Given the description of an element on the screen output the (x, y) to click on. 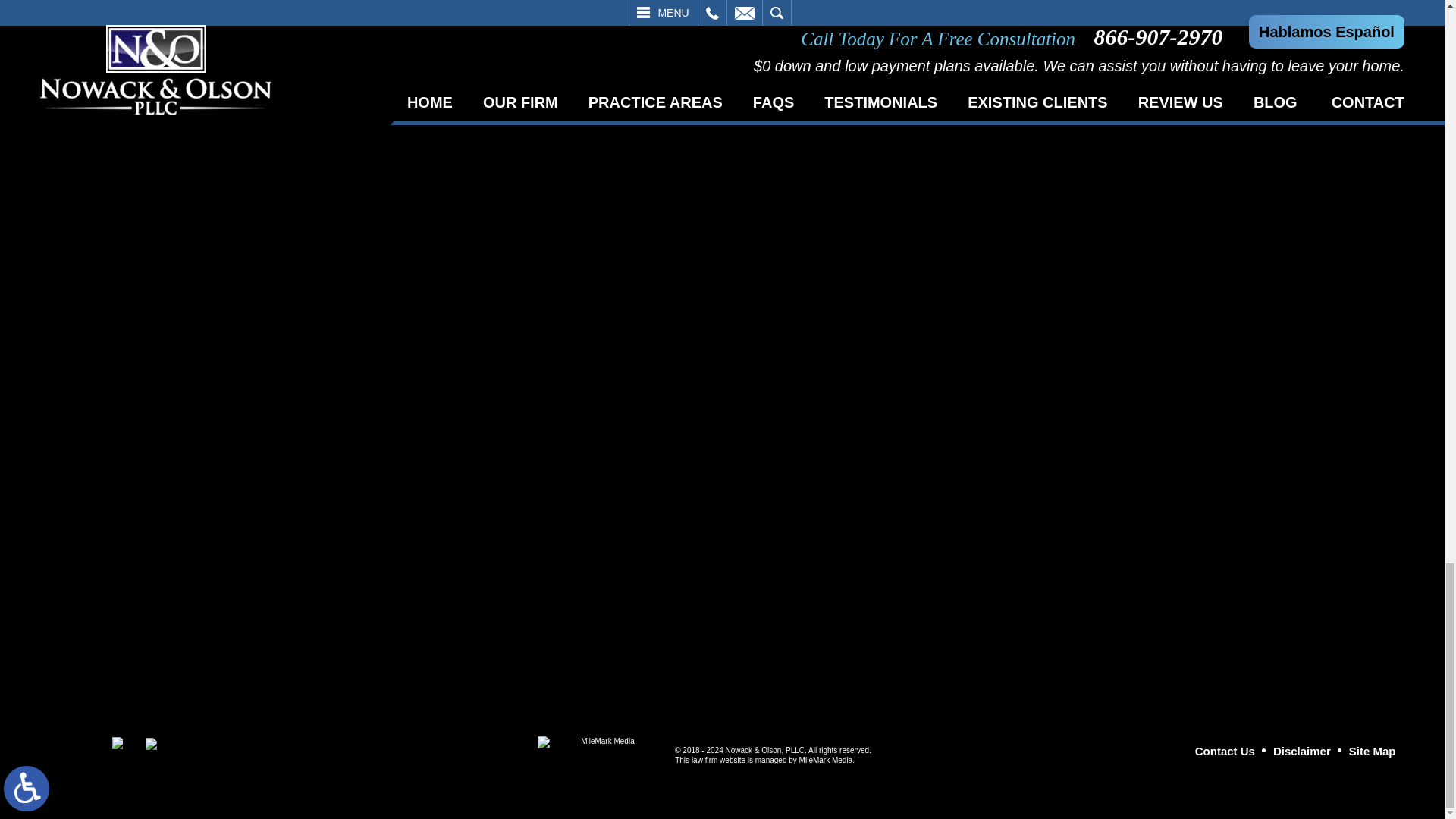
Twitter (149, 743)
MileMark Media (601, 749)
Facebook (117, 743)
